Given the description of an element on the screen output the (x, y) to click on. 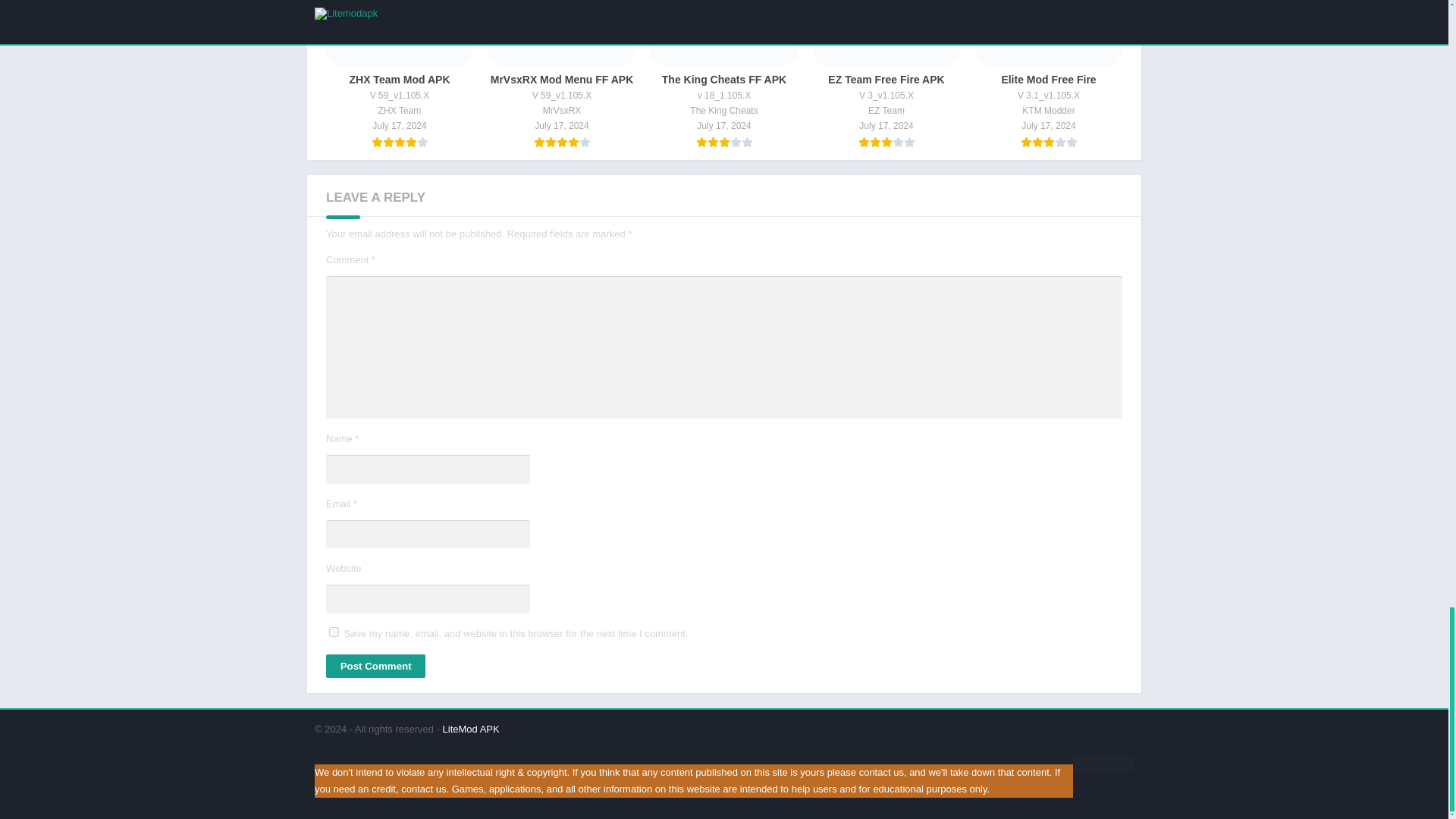
Post Comment (375, 666)
LiteMod APK (470, 728)
ZHX Team Mod APK (399, 74)
yes (334, 632)
Post Comment (375, 666)
